Given the description of an element on the screen output the (x, y) to click on. 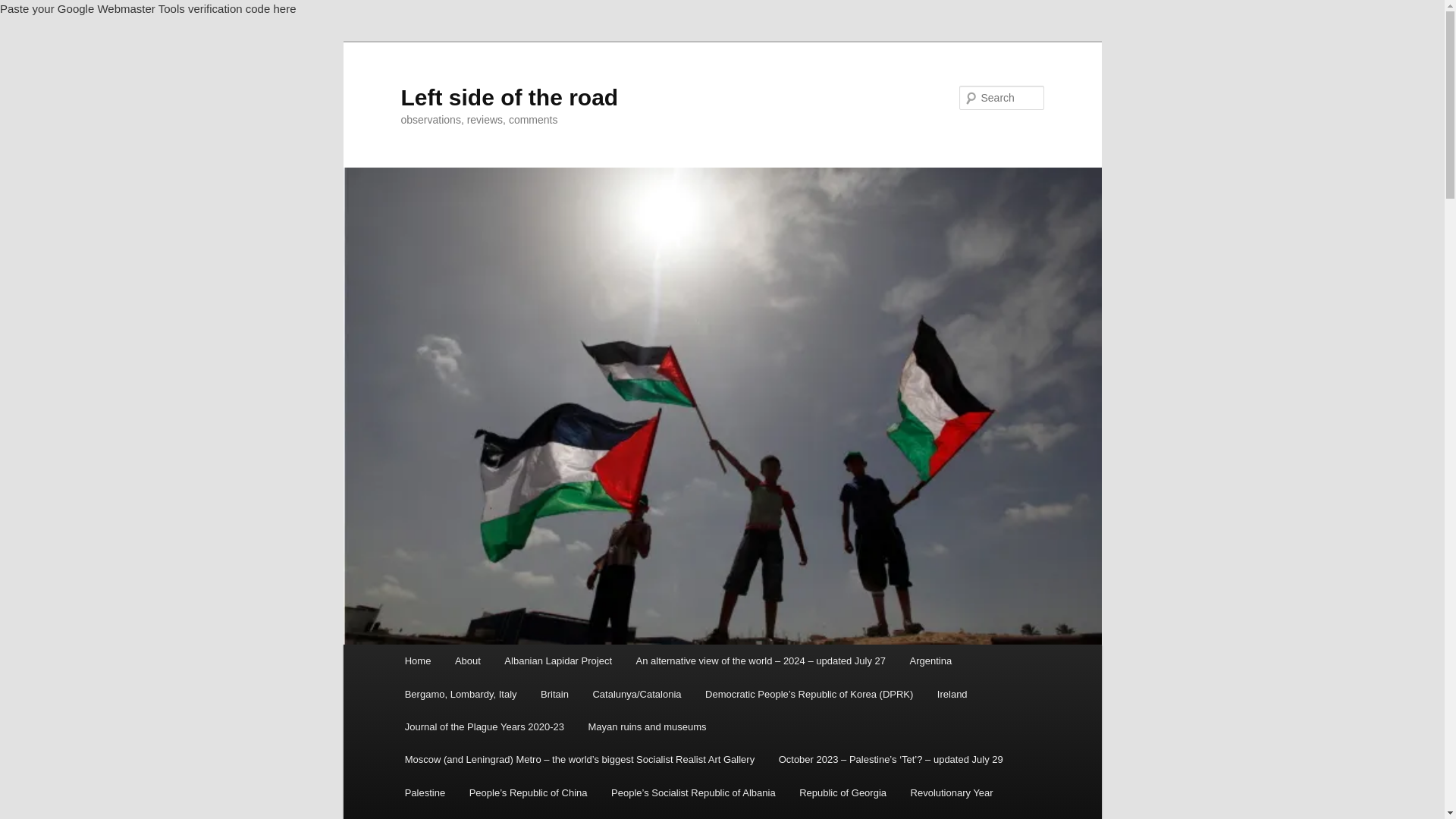
Argentina (930, 660)
Britain (553, 694)
Republic of Georgia (842, 792)
Revolutionary Year (952, 792)
Home (417, 660)
Left side of the road (508, 97)
The Republic of Cuba (900, 814)
Palestine (425, 792)
Sailing on a tall ship (448, 814)
Search (24, 8)
About (467, 660)
Mayan ruins and museums (647, 726)
Ireland (951, 694)
Journal of the Plague Years 2020-23 (484, 726)
